Given the description of an element on the screen output the (x, y) to click on. 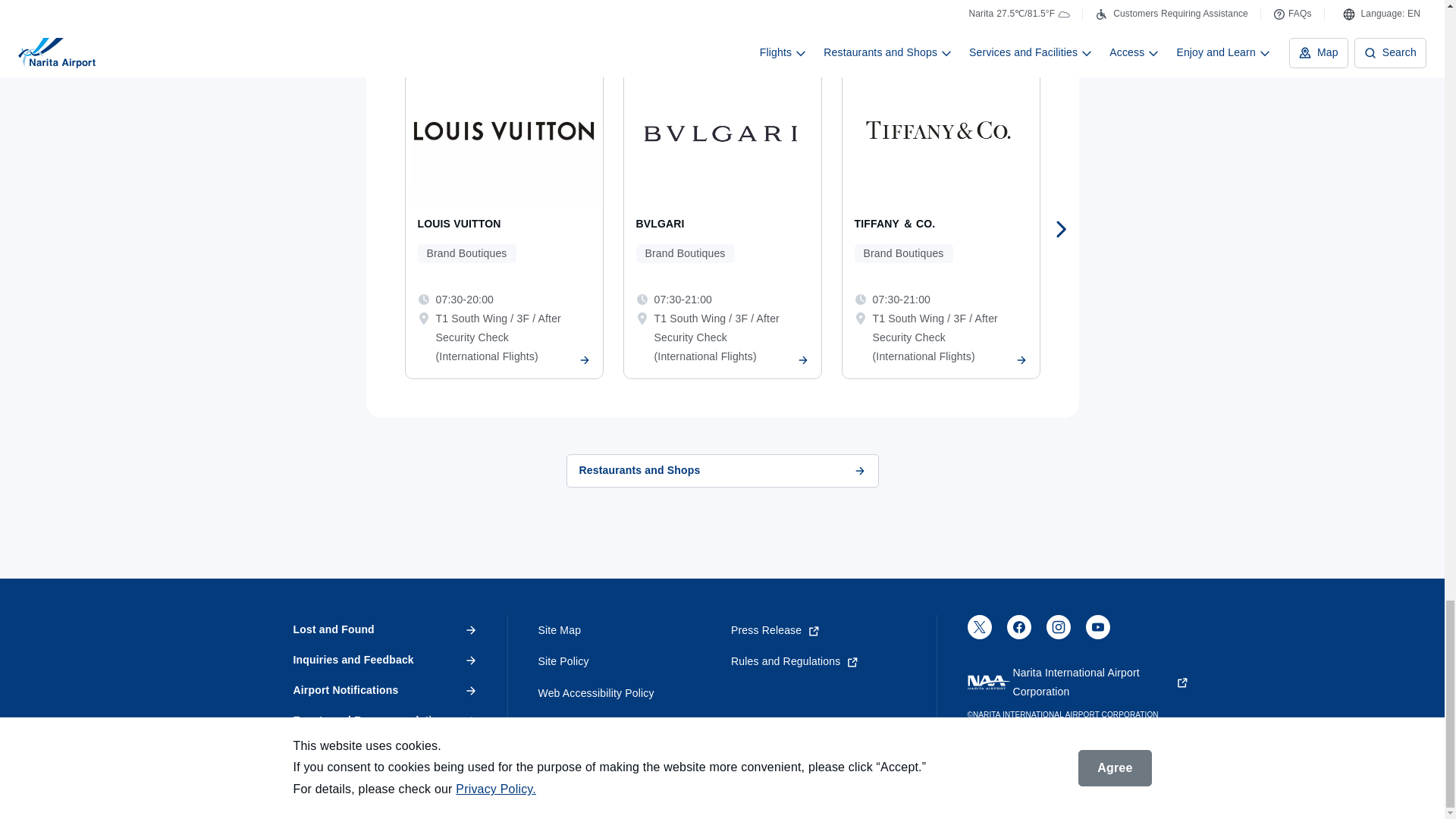
Open external site (1078, 682)
Open external site (1018, 631)
Open external site (817, 630)
Rules and Regulations (817, 661)
Open external site (817, 661)
Airport Notifications (384, 690)
Lost and Found (384, 630)
Events and Recommendations (384, 720)
Site Map (625, 630)
Restaurants and Shops (721, 470)
